Given the description of an element on the screen output the (x, y) to click on. 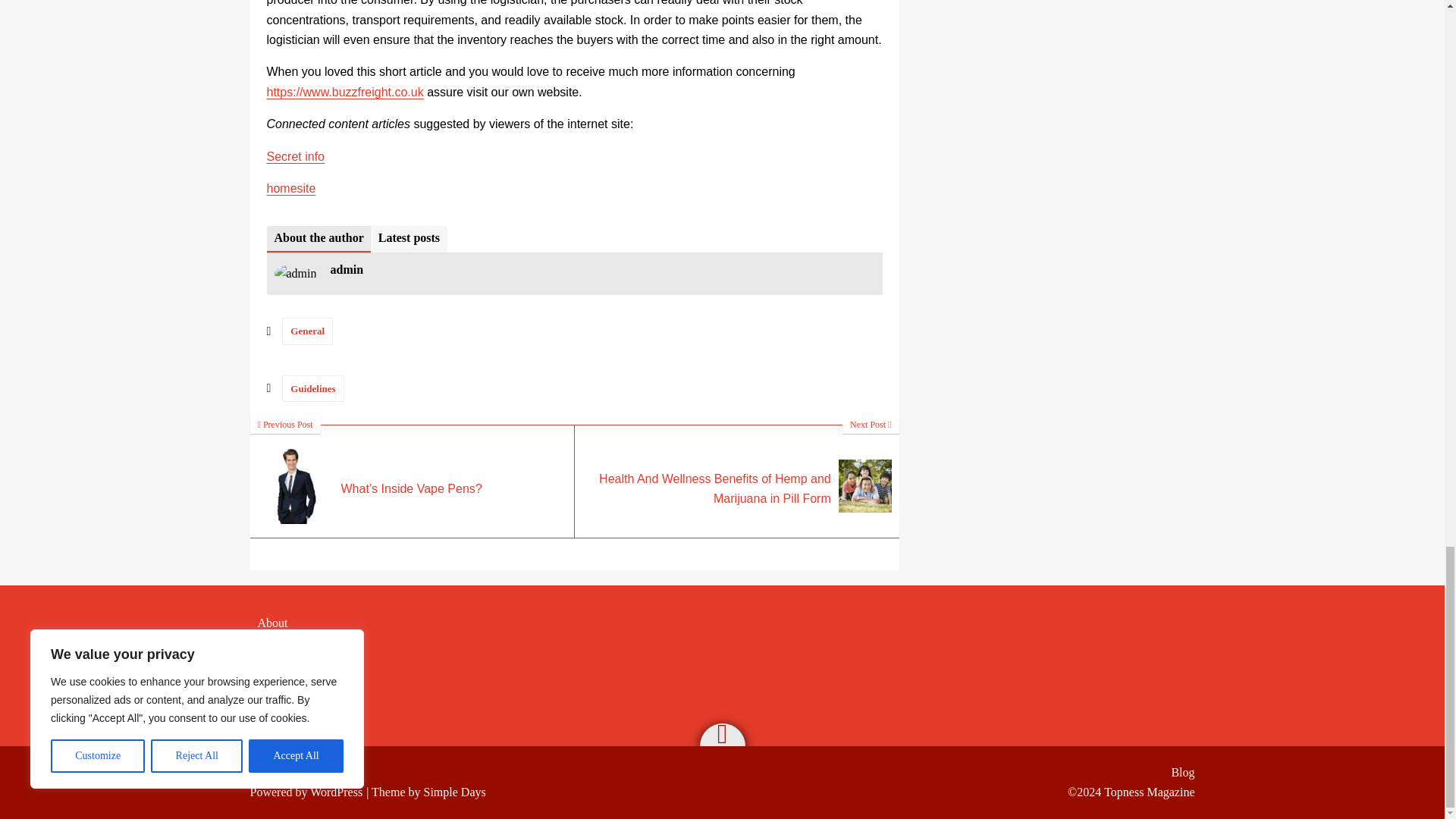
Secret info (295, 155)
General (307, 330)
homesite (290, 187)
Guidelines (312, 388)
